Given the description of an element on the screen output the (x, y) to click on. 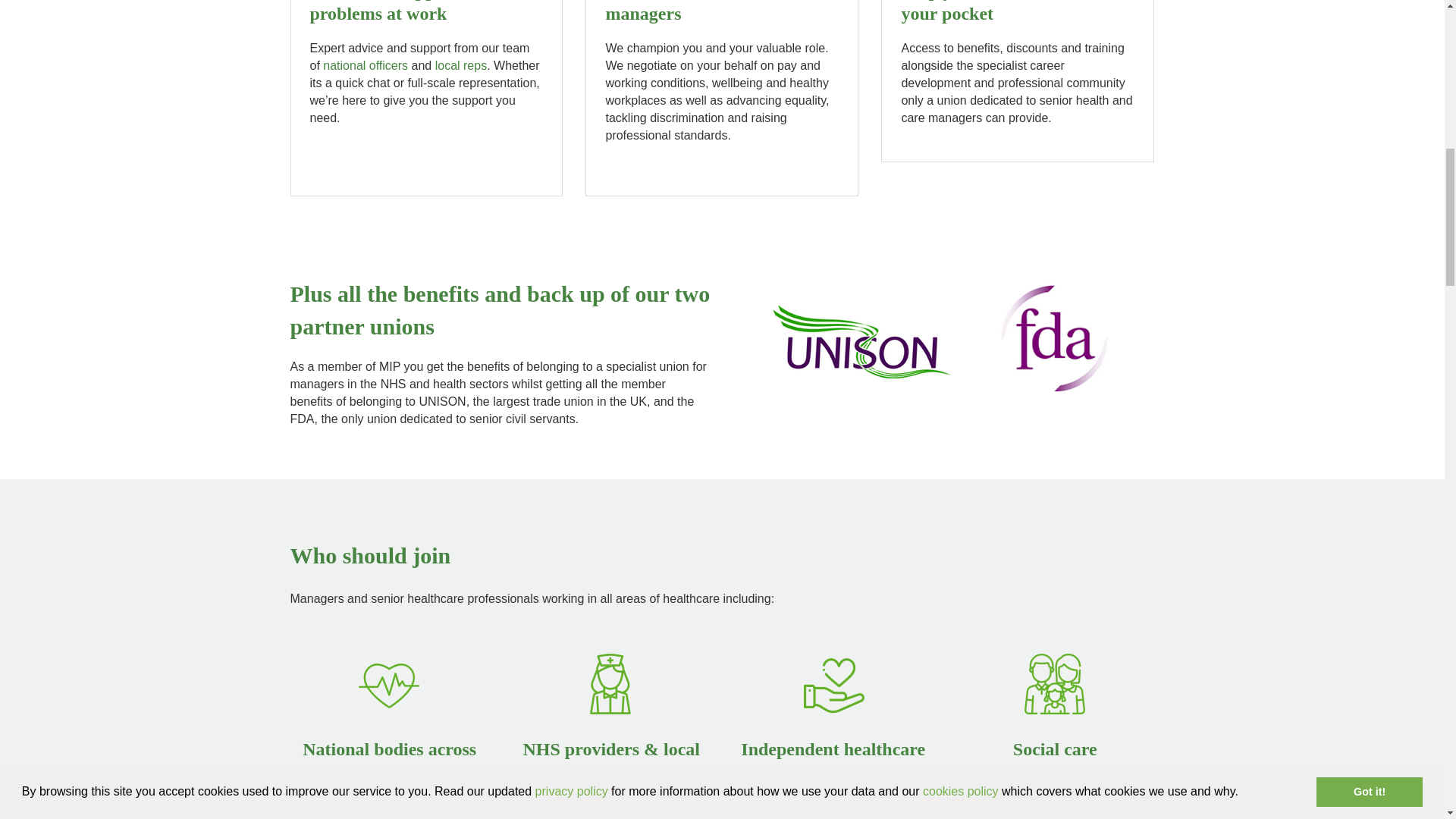
WhoShouldJoin3 (832, 684)
UnisonFDALogos.png (944, 338)
WhoShouldJoin2 (611, 684)
WhoShouldJoin1 (390, 684)
WhoShouldJoin4 (1054, 684)
